Given the description of an element on the screen output the (x, y) to click on. 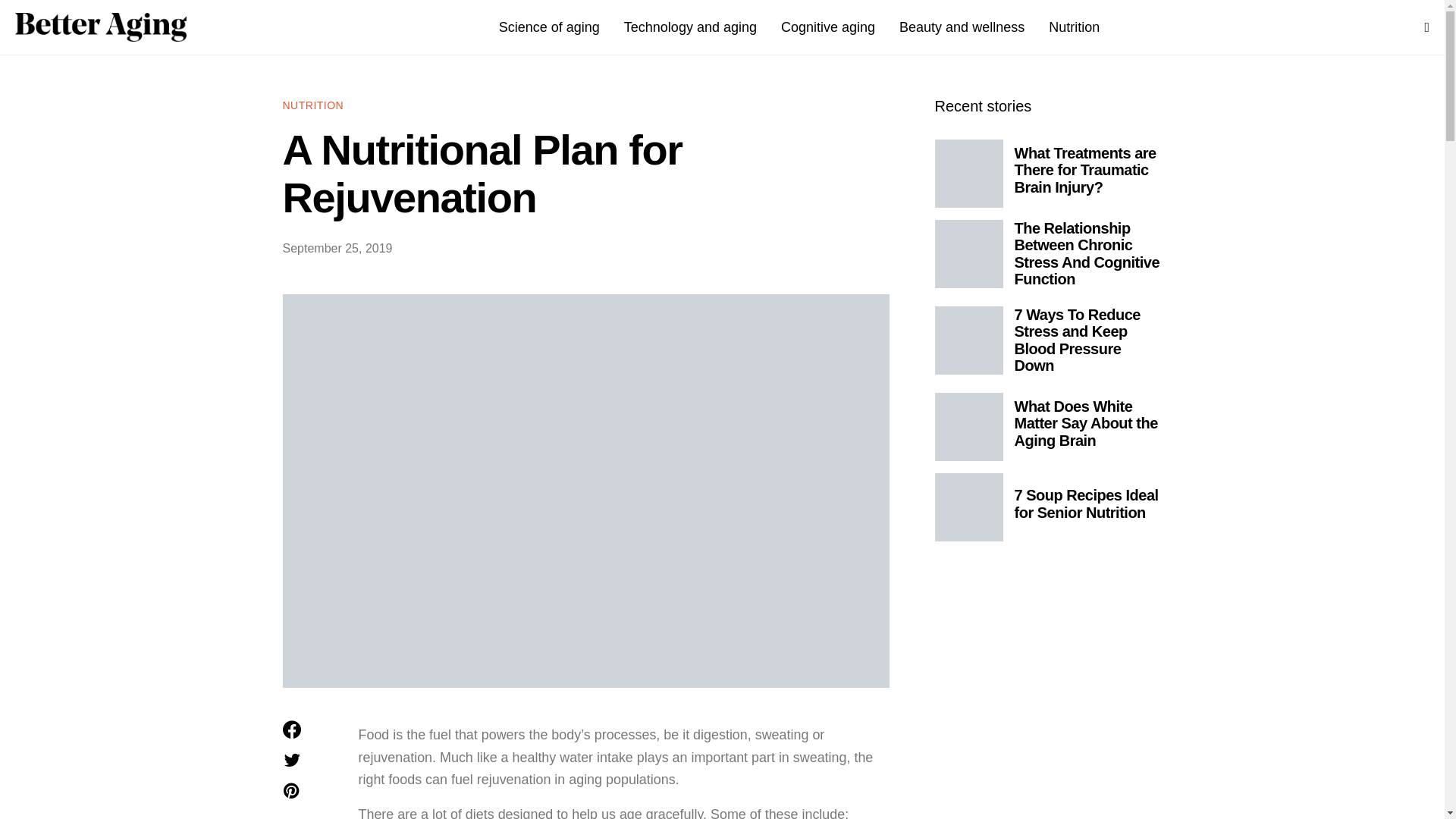
7 Ways To Reduce Stress and Keep Blood Pressure Down (1077, 340)
Beauty and wellness (962, 27)
September 25, 2019 (336, 247)
NUTRITION (312, 105)
Technology and aging (690, 27)
What Treatments are There for Traumatic Brain Injury? (1085, 169)
Science of aging (549, 27)
Cognitive aging (827, 27)
Nutrition (1073, 27)
